Given the description of an element on the screen output the (x, y) to click on. 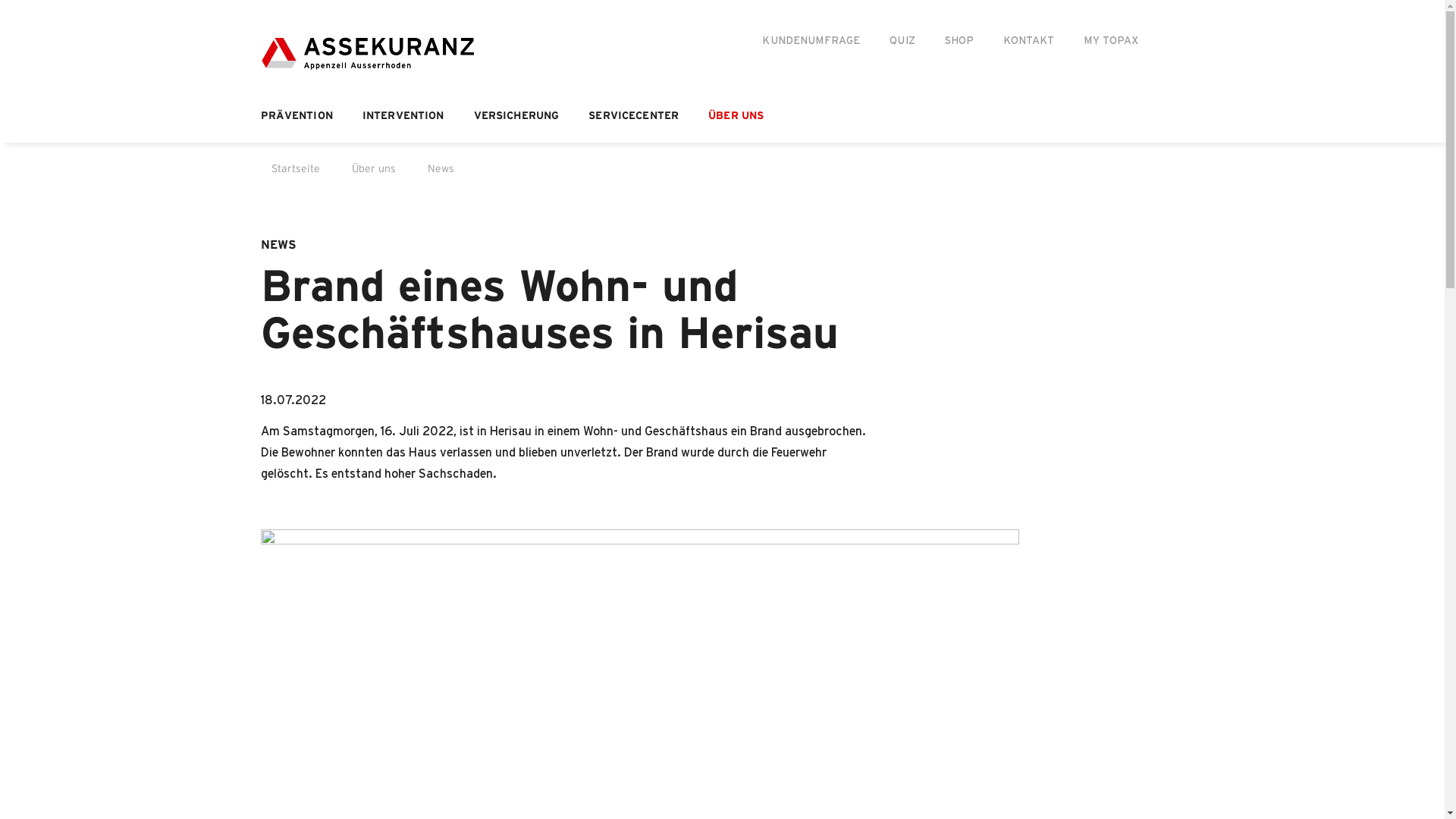
Startseite Element type: text (290, 168)
VERSICHERUNG Element type: text (516, 115)
MY TOPAX Element type: text (1110, 40)
QUIZ Element type: text (902, 40)
Search Element type: text (1184, 41)
INTERVENTION Element type: text (403, 115)
SERVICECENTER Element type: text (633, 115)
KUNDENUMFRAGE Element type: text (810, 40)
KONTAKT Element type: text (1028, 40)
SHOP Element type: text (959, 40)
News Element type: text (435, 168)
